Given the description of an element on the screen output the (x, y) to click on. 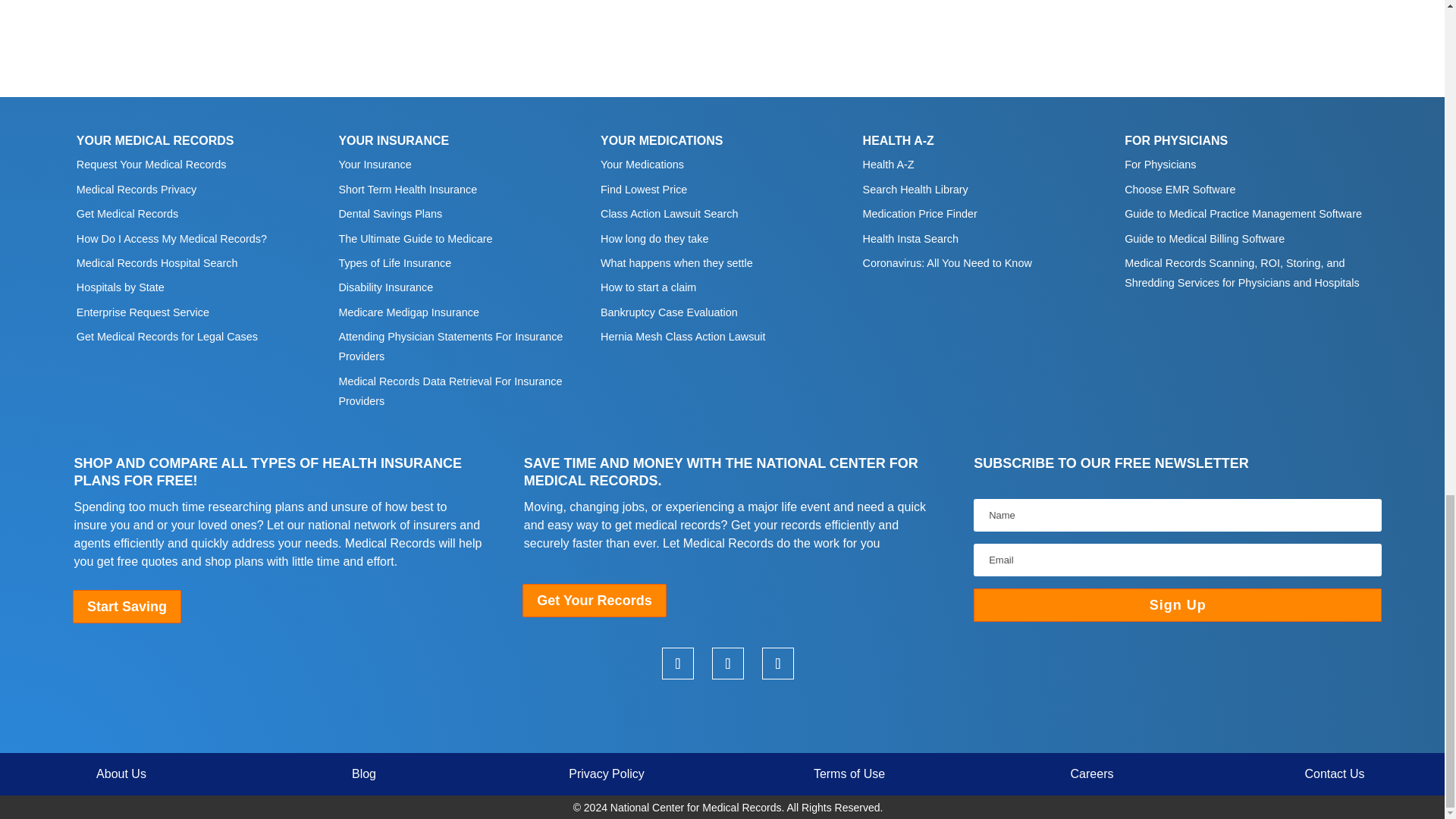
Follow on LinkedIn (678, 663)
Follow on Facebook (777, 663)
medicalrecords.com (727, 716)
Follow on X (727, 663)
